Given the description of an element on the screen output the (x, y) to click on. 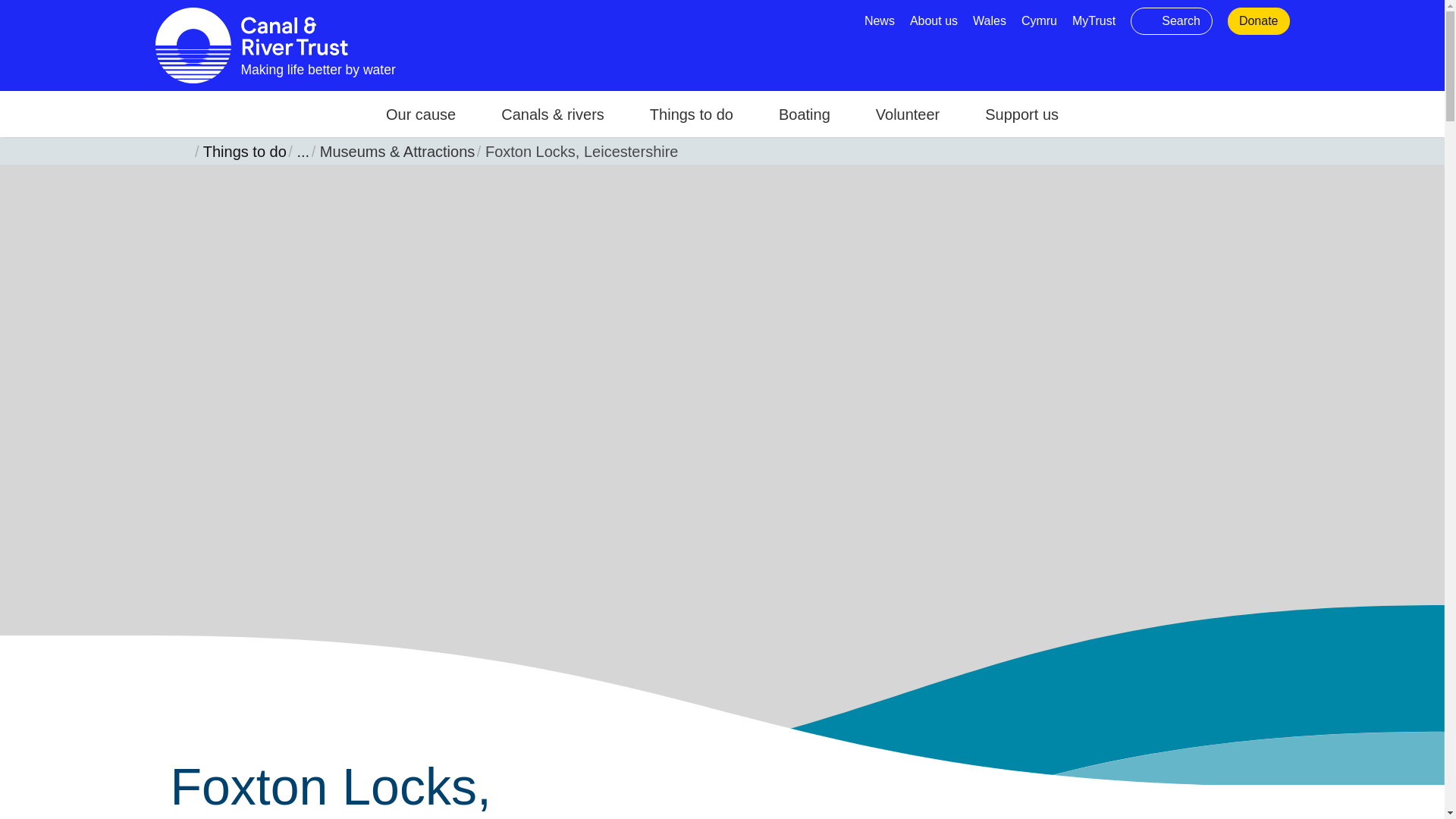
Things to do (240, 150)
MyTrust (1093, 20)
Search (1171, 21)
Volunteer (908, 114)
Boating (803, 114)
News (879, 20)
Cymru (1039, 20)
... (298, 150)
Donate (1258, 20)
Wales (989, 20)
Our cause (420, 114)
Support us (1021, 114)
Things to do (691, 114)
About us (934, 20)
